Given the description of an element on the screen output the (x, y) to click on. 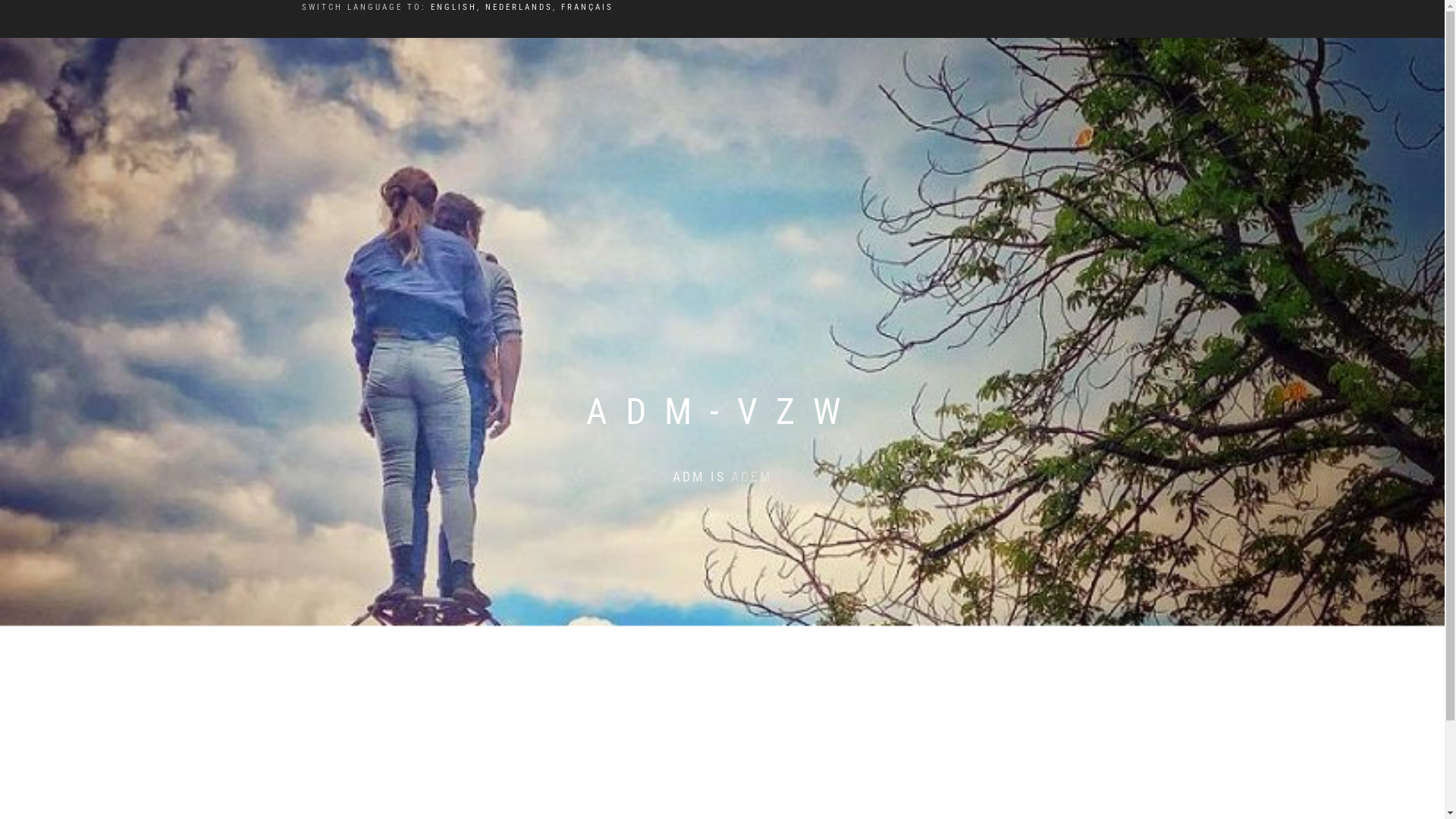
ENGLISH Element type: text (453, 7)
NEDERLANDS Element type: text (518, 7)
